Given the description of an element on the screen output the (x, y) to click on. 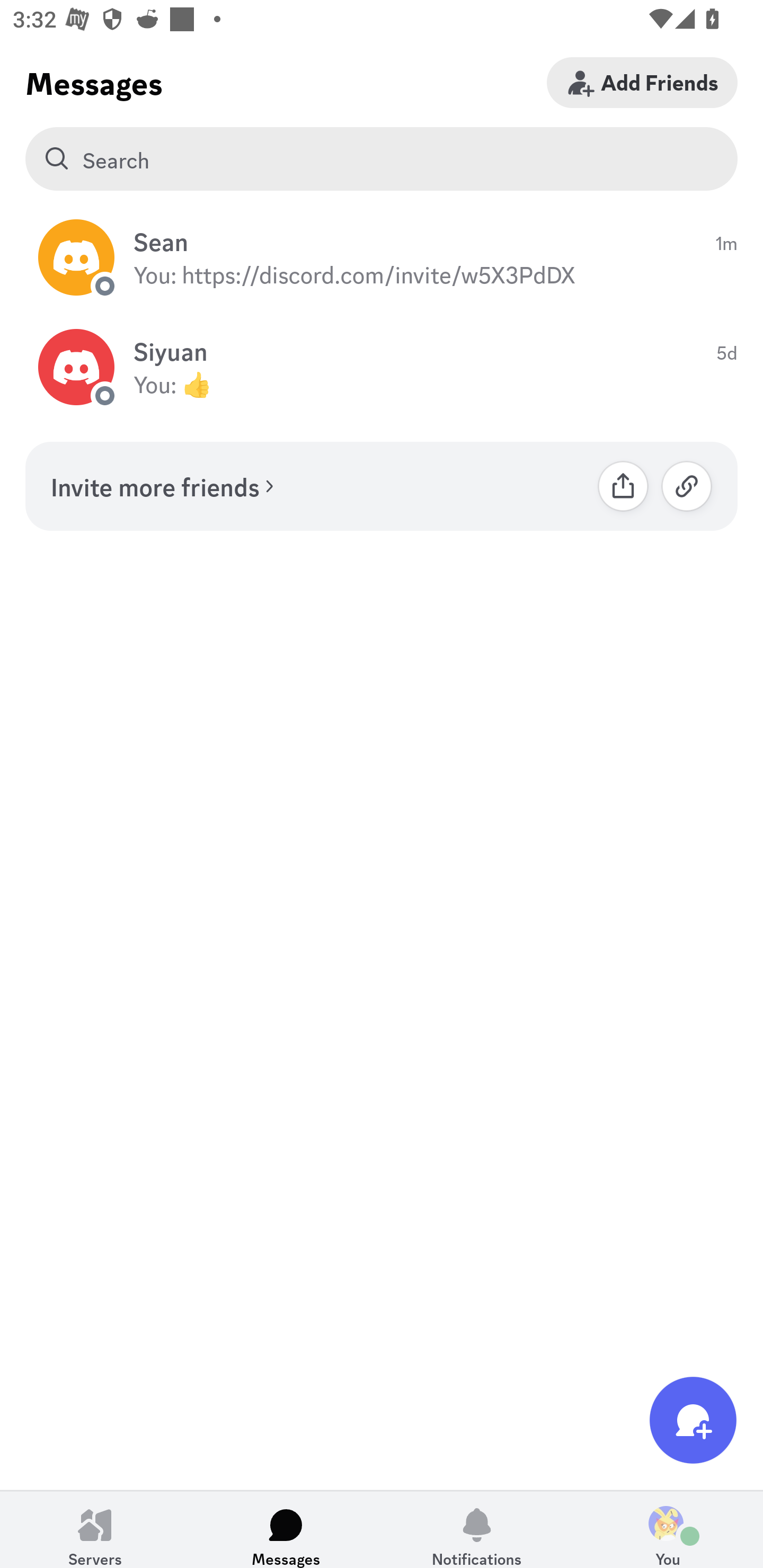
Add Friends (642, 82)
Search (381, 159)
Siyuan (direct message) Siyuan 5d You: 👍 (381, 367)
Share Link (622, 485)
Copy Link (686, 485)
New Message (692, 1419)
Servers (95, 1529)
Messages (285, 1529)
Notifications (476, 1529)
You (667, 1529)
